Given the description of an element on the screen output the (x, y) to click on. 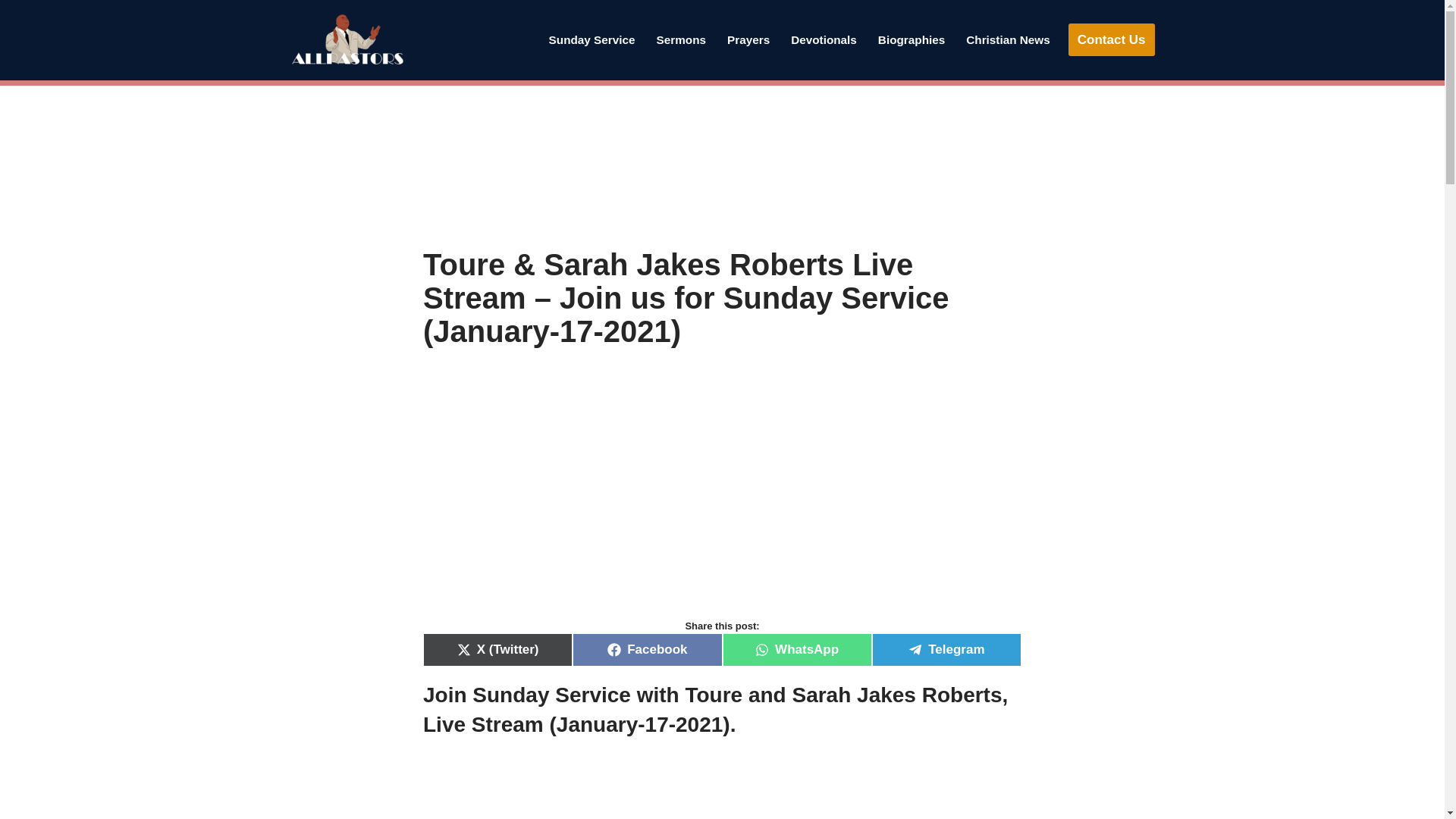
Skip to content (11, 31)
Contact Us (1111, 39)
Telegram (947, 649)
Christian News (1007, 39)
Sermons (681, 39)
Sunday Service (591, 39)
WhatsApp (796, 649)
Biographies (910, 39)
SERMONS ONLINE (681, 39)
Facebook (647, 649)
